Given the description of an element on the screen output the (x, y) to click on. 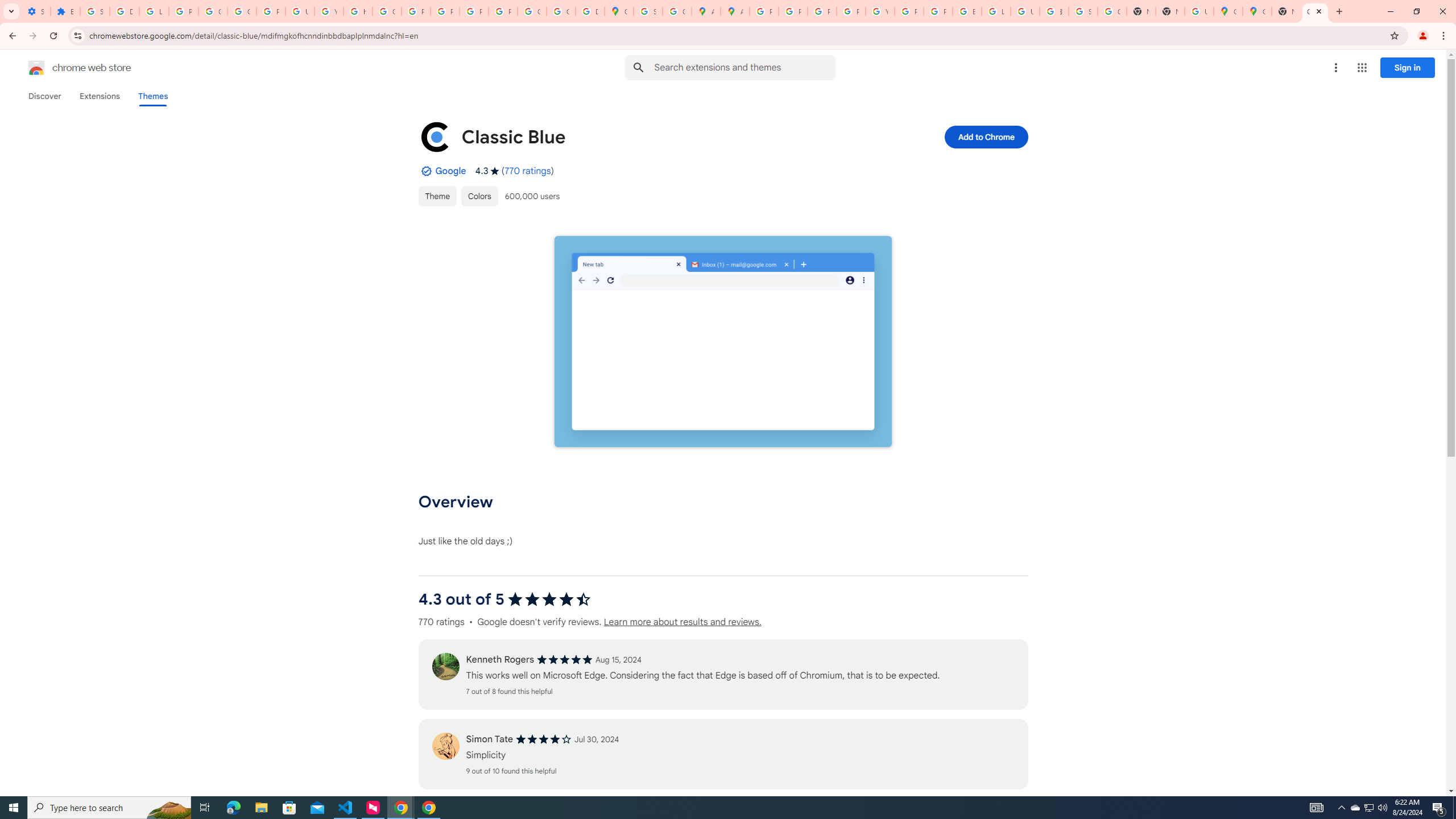
Search input (744, 67)
YouTube (327, 11)
Google Maps (1256, 11)
Google Maps (1227, 11)
Delete photos & videos - Computer - Google Photos Help (124, 11)
